Given the description of an element on the screen output the (x, y) to click on. 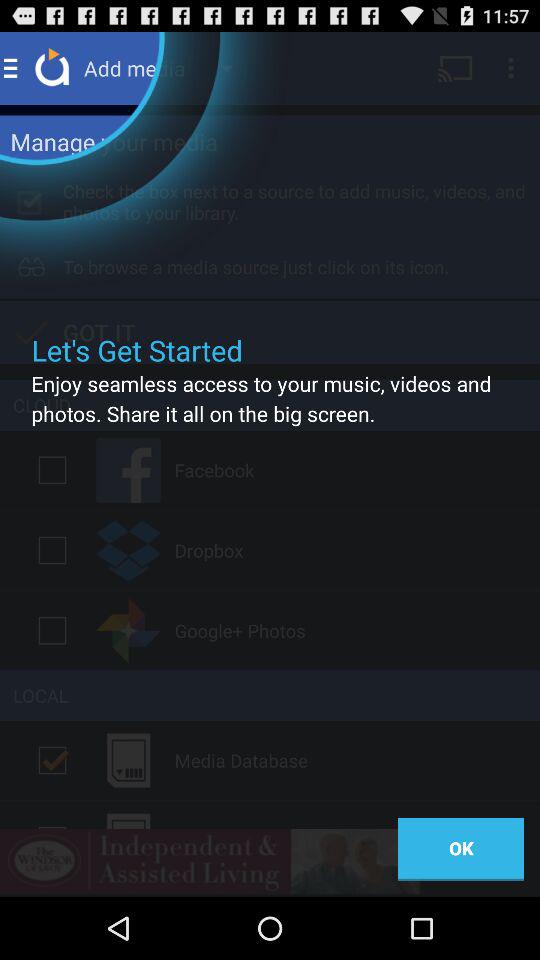
select dropbox (52, 550)
